Given the description of an element on the screen output the (x, y) to click on. 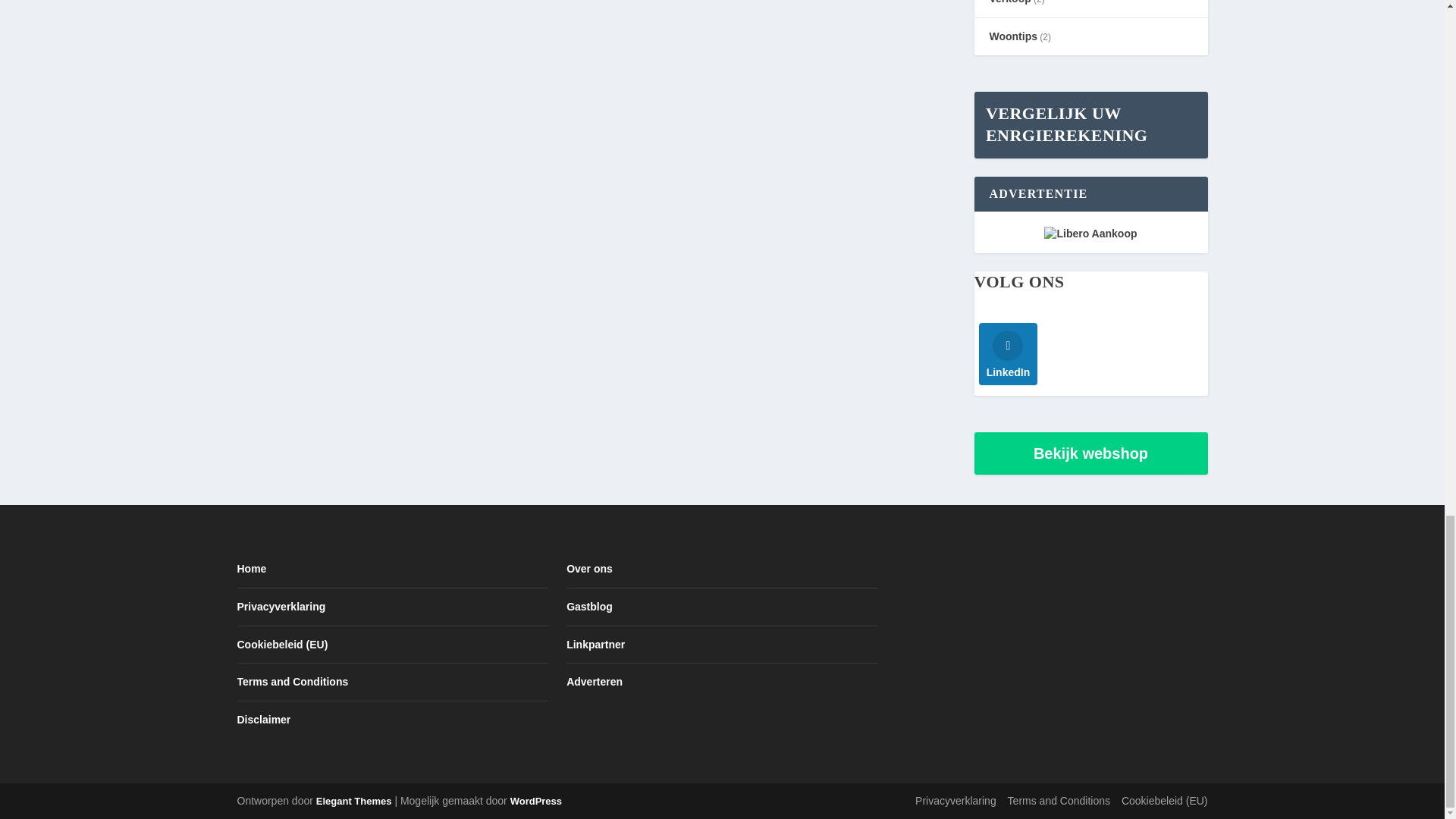
Premium WordPress Themes (353, 800)
